Given the description of an element on the screen output the (x, y) to click on. 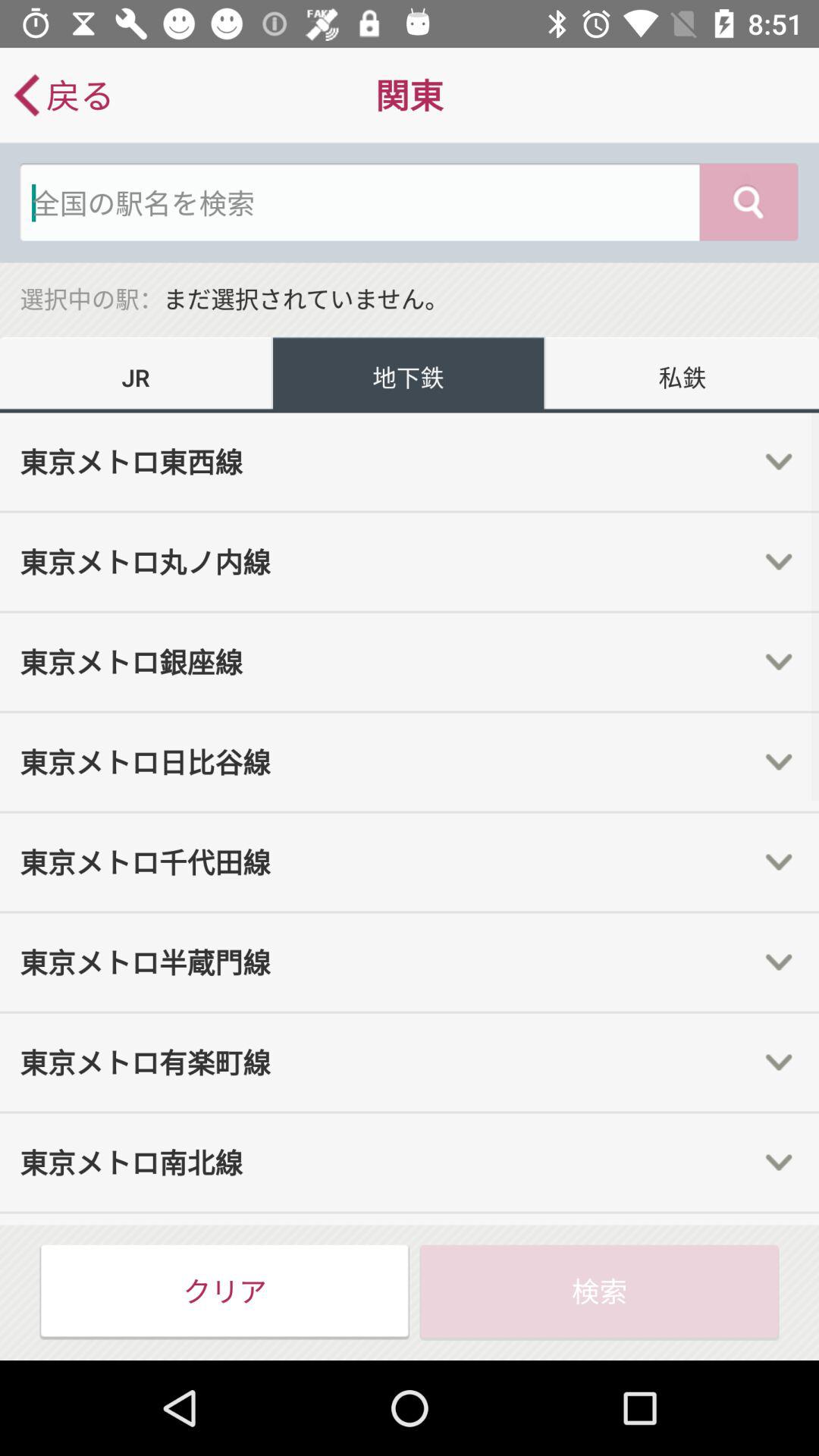
the fourth drop down button from the top of the page (778, 762)
click the button on the top left corner of the web page (62, 94)
